Given the description of an element on the screen output the (x, y) to click on. 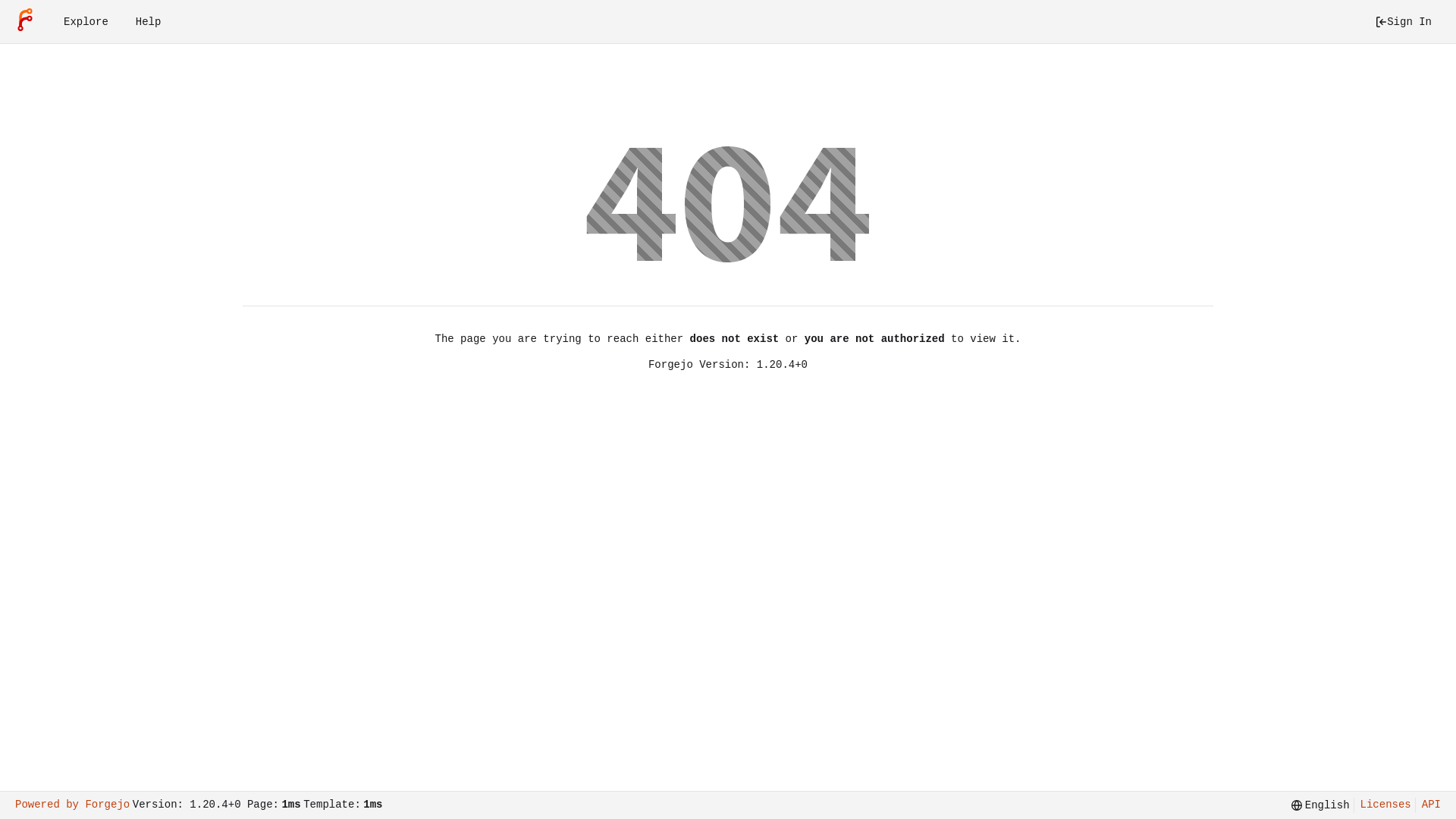
Powered by Forgejo Element type: text (72, 804)
API Element type: text (1427, 804)
Explore Element type: text (85, 21)
Sign In Element type: text (1403, 21)
Help Element type: text (148, 21)
Licenses Element type: text (1382, 804)
